Given the description of an element on the screen output the (x, y) to click on. 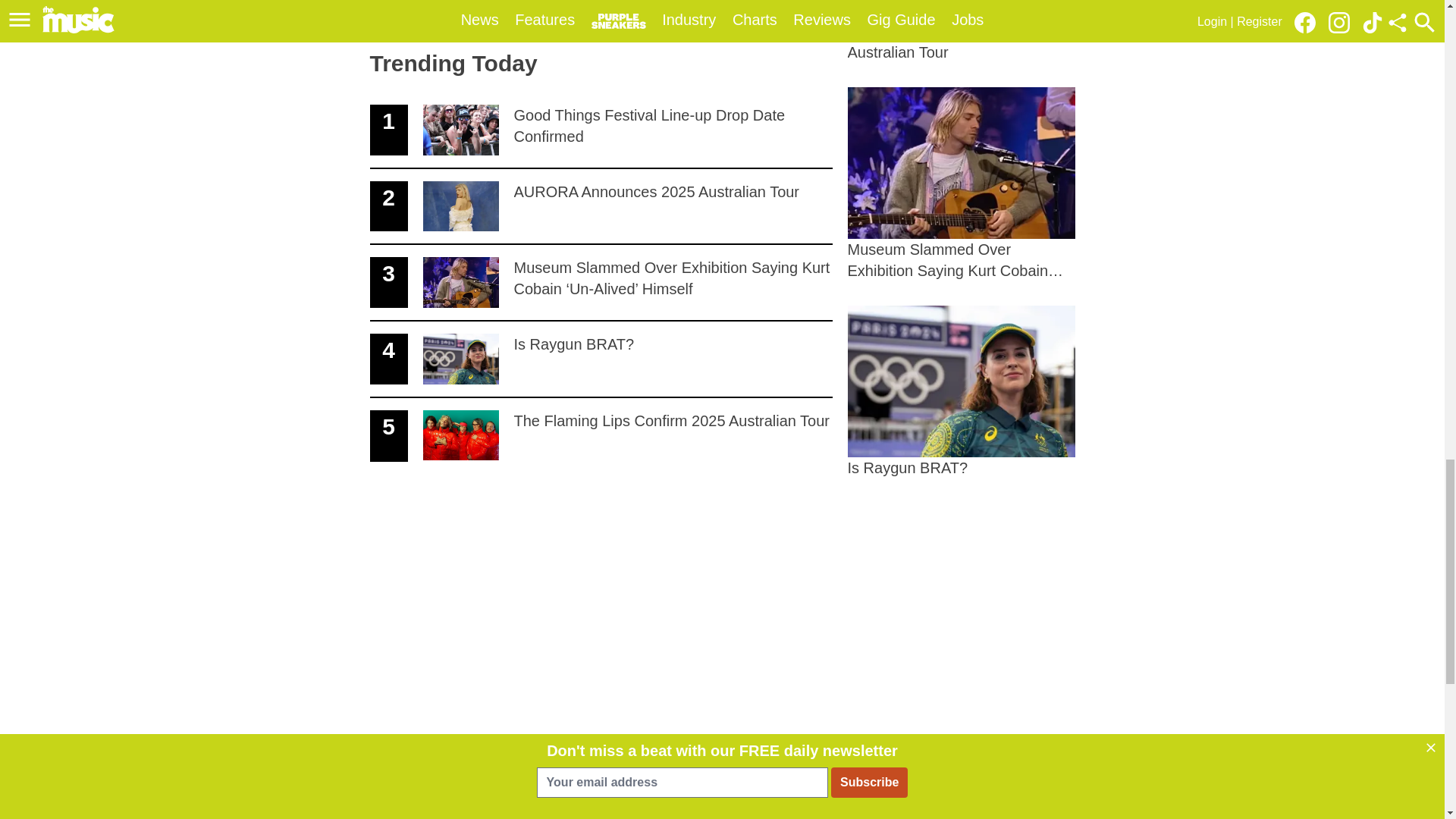
Is Raygun BRAT? (600, 359)
AURORA Announces 2025 Australian Tour (961, 391)
